Given the description of an element on the screen output the (x, y) to click on. 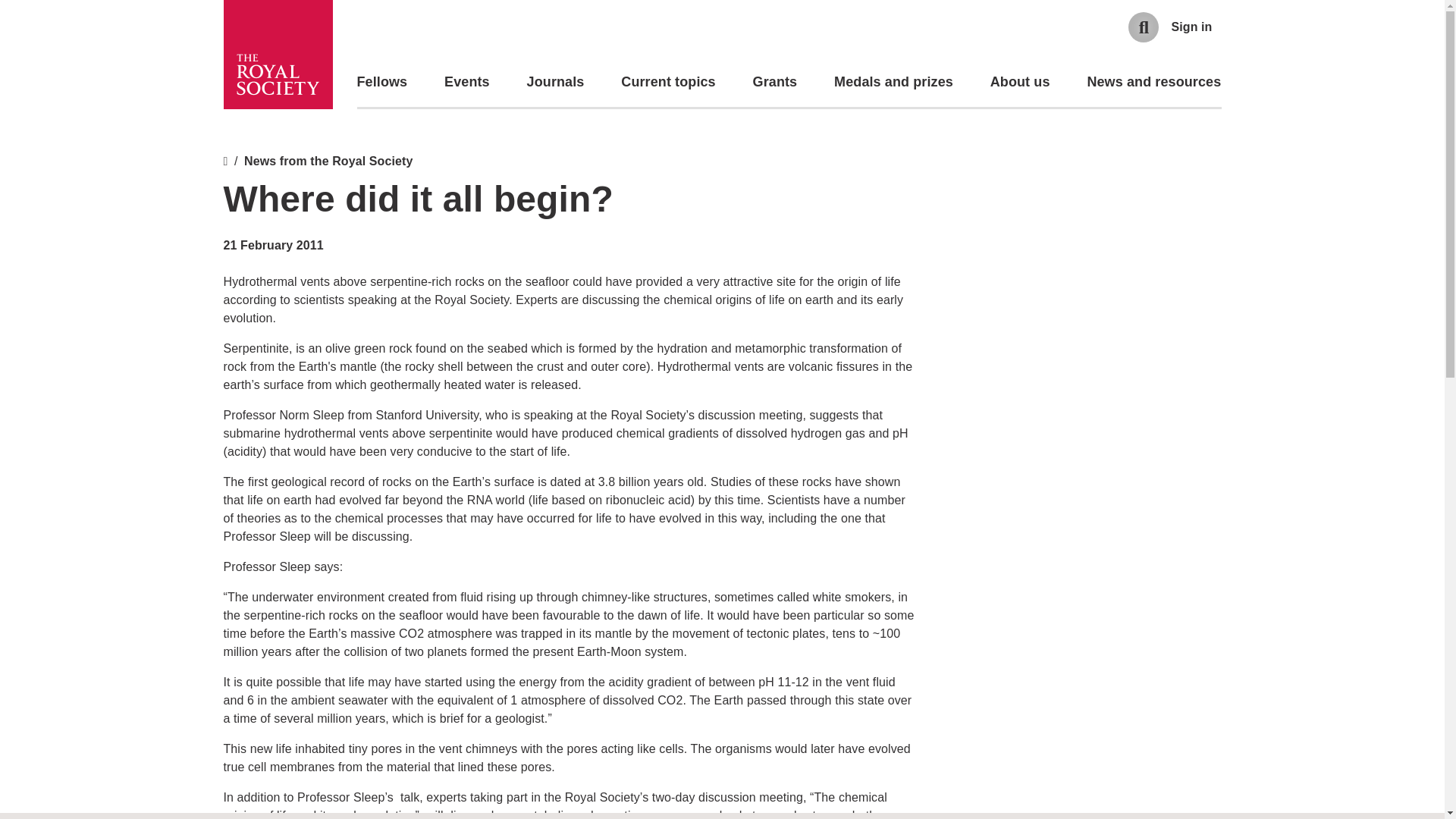
Current topics (667, 81)
Journals (556, 81)
Fellows (381, 81)
